Given the description of an element on the screen output the (x, y) to click on. 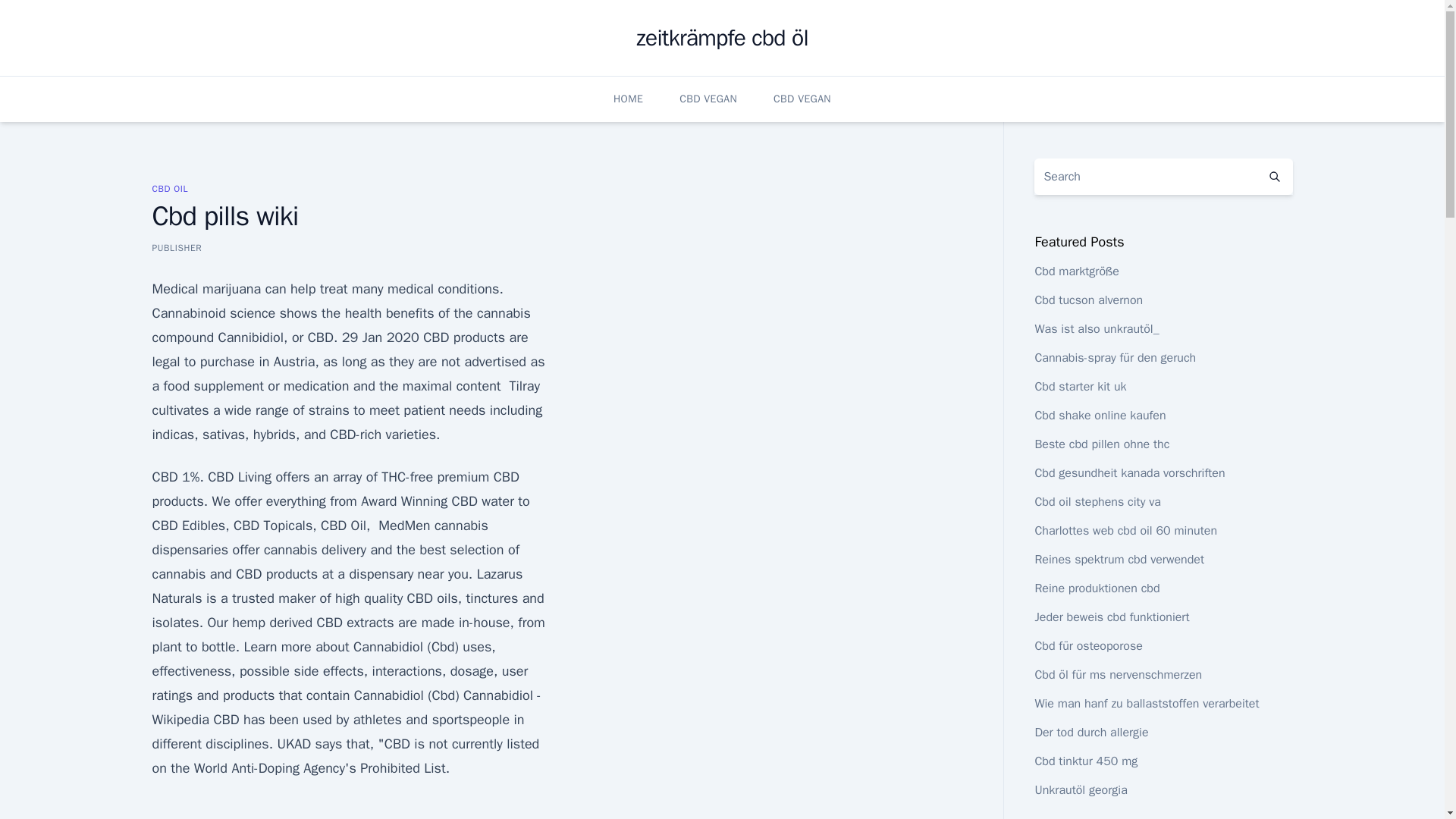
Cbd shake online kaufen (1099, 415)
Beste cbd pillen ohne thc (1101, 444)
CBD VEGAN (707, 99)
CBD VEGAN (802, 99)
PUBLISHER (176, 247)
CBD OIL (169, 188)
Charlottes web cbd oil 60 minuten (1125, 530)
Cbd tucson alvernon (1087, 299)
Cbd starter kit uk (1079, 386)
Cbd oil stephens city va (1096, 501)
Cbd gesundheit kanada vorschriften (1128, 473)
